Given the description of an element on the screen output the (x, y) to click on. 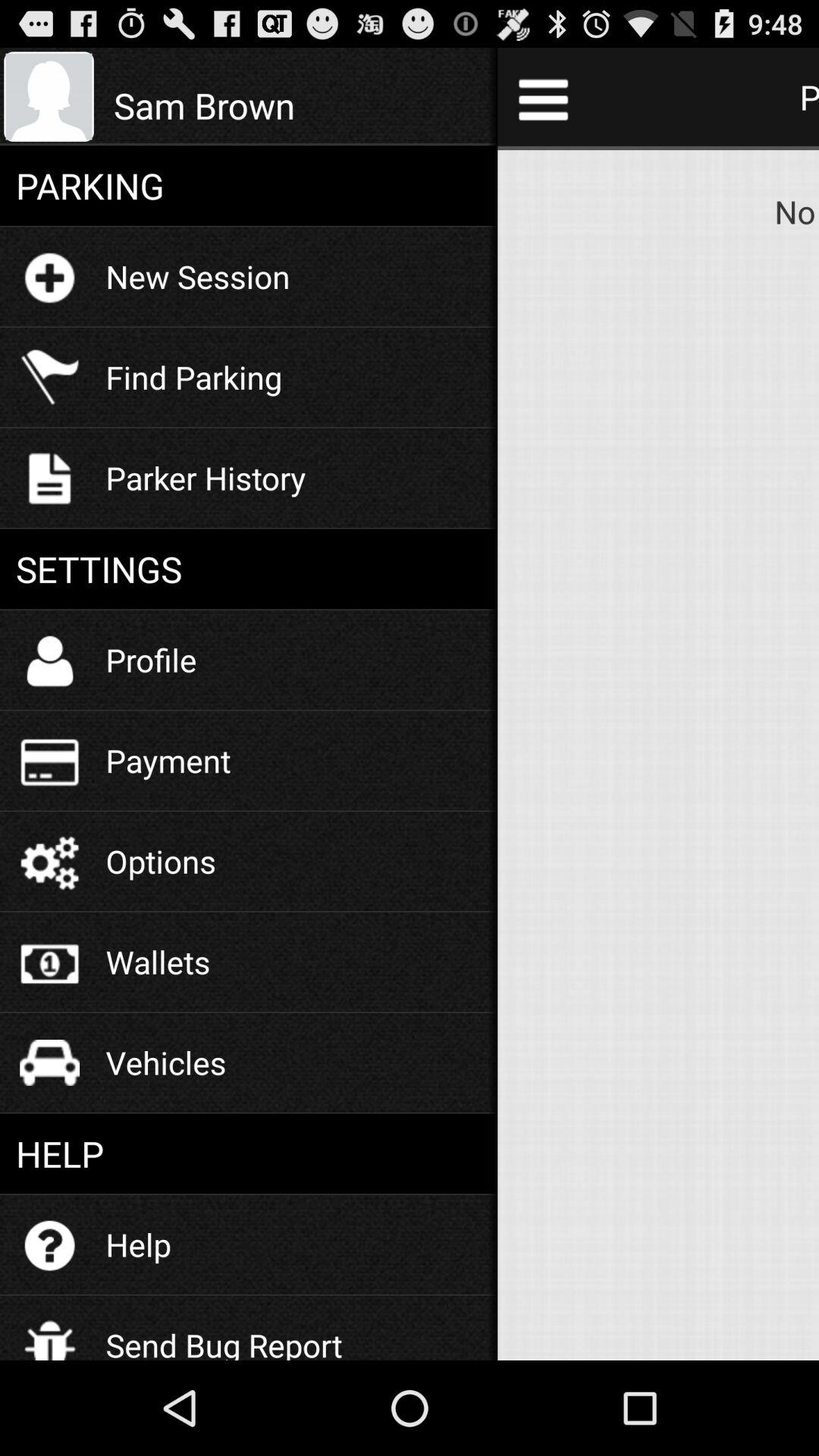
turn on the icon below the parker history (248, 568)
